Given the description of an element on the screen output the (x, y) to click on. 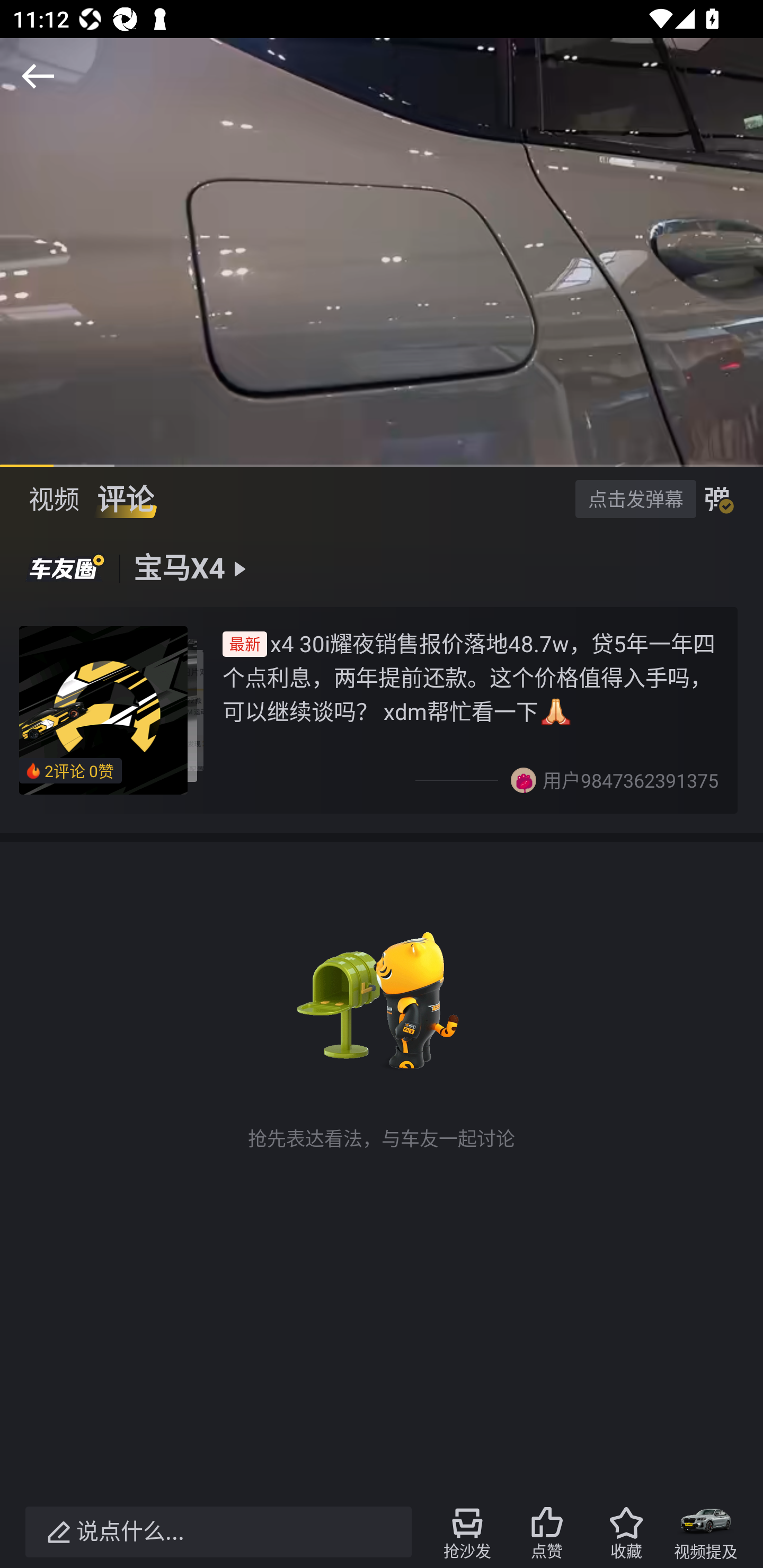
7.0 (381, 252)
 (38, 75)
视频 (53, 499)
评论 (125, 499)
点击发弹幕 (635, 498)
抢先表达看法，与车友一起讨论 (381, 1033)
 抢沙发 (467, 1531)
点赞 (546, 1531)
收藏 (625, 1531)
视频提及 (705, 1531)
 说点什么... (218, 1531)
